Given the description of an element on the screen output the (x, y) to click on. 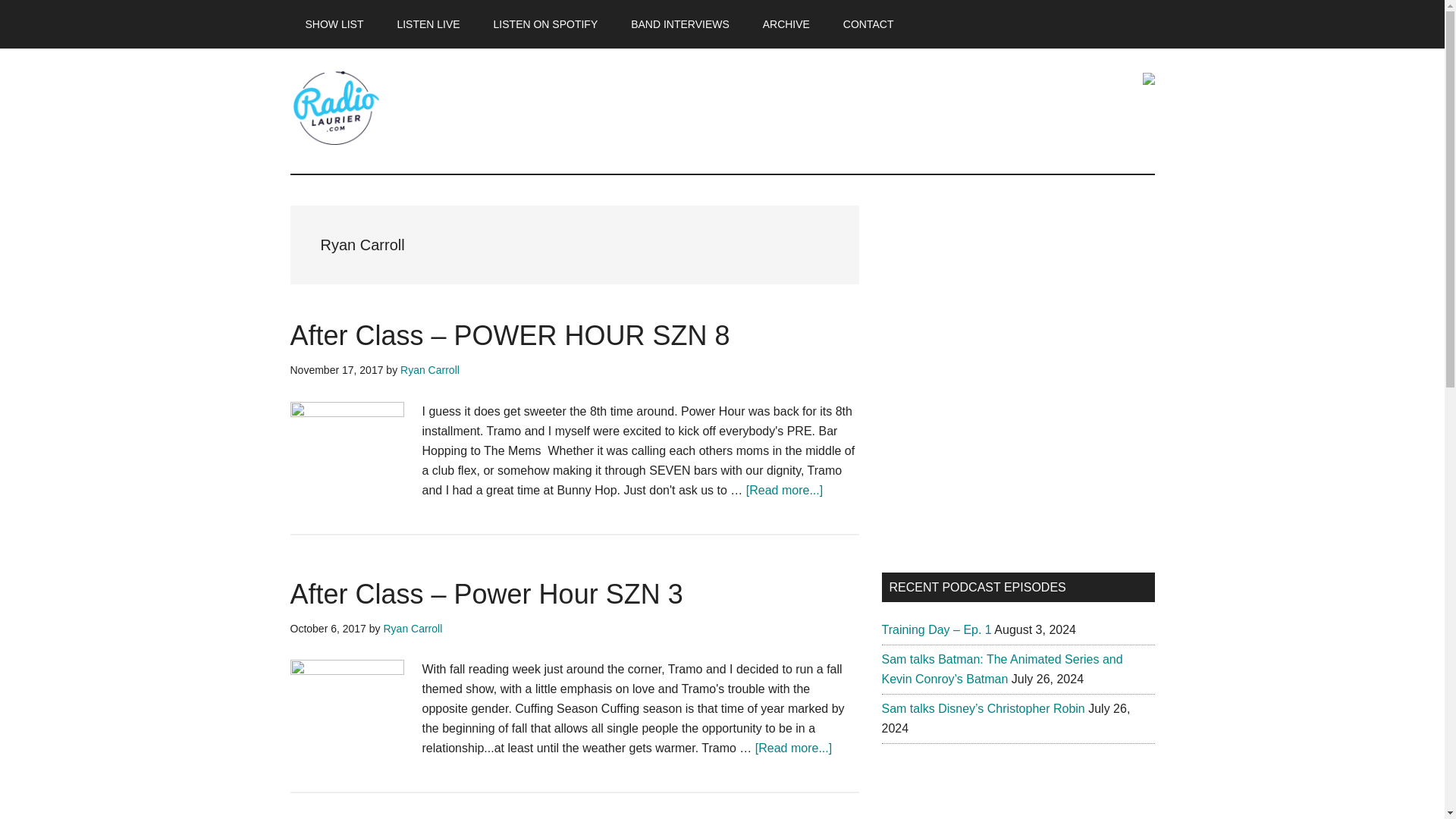
SHOW LIST (333, 24)
CONTACT (868, 24)
LISTEN LIVE (427, 24)
BAND INTERVIEWS (679, 24)
ARCHIVE (786, 24)
LISTEN ON SPOTIFY (545, 24)
